Given the description of an element on the screen output the (x, y) to click on. 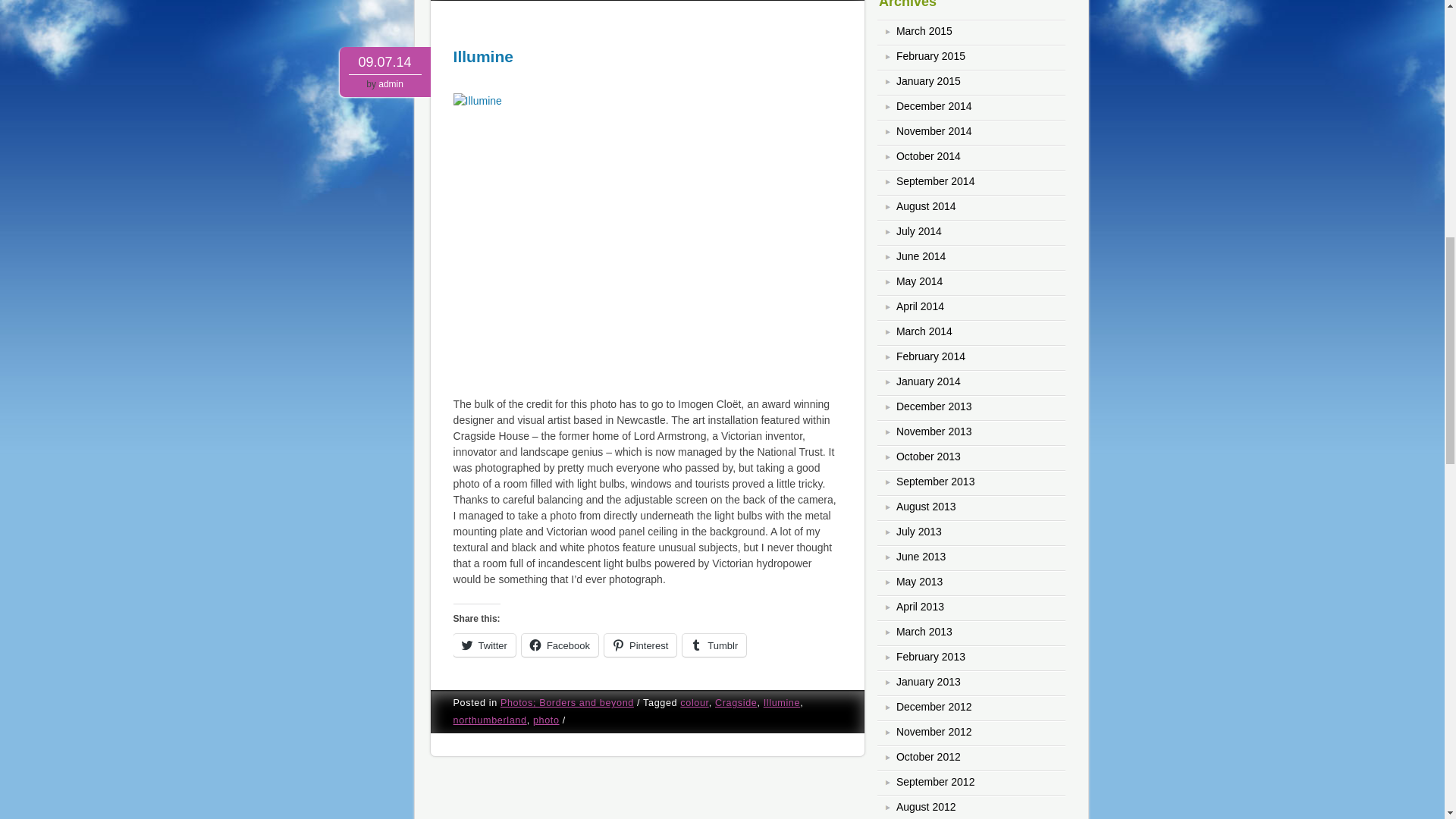
Tumblr (713, 644)
northumberland (489, 719)
Click to share on Twitter (483, 644)
09.07.14 (385, 61)
Click to share on Pinterest (640, 644)
colour (693, 702)
Click to share on Tumblr (713, 644)
Photos; Borders and beyond (566, 702)
Click to share on Facebook (559, 644)
View all posts by admin (390, 83)
Illumine (482, 56)
photo (545, 719)
Illumine (647, 239)
Permalink to Illumine (482, 56)
Pinterest (640, 644)
